Given the description of an element on the screen output the (x, y) to click on. 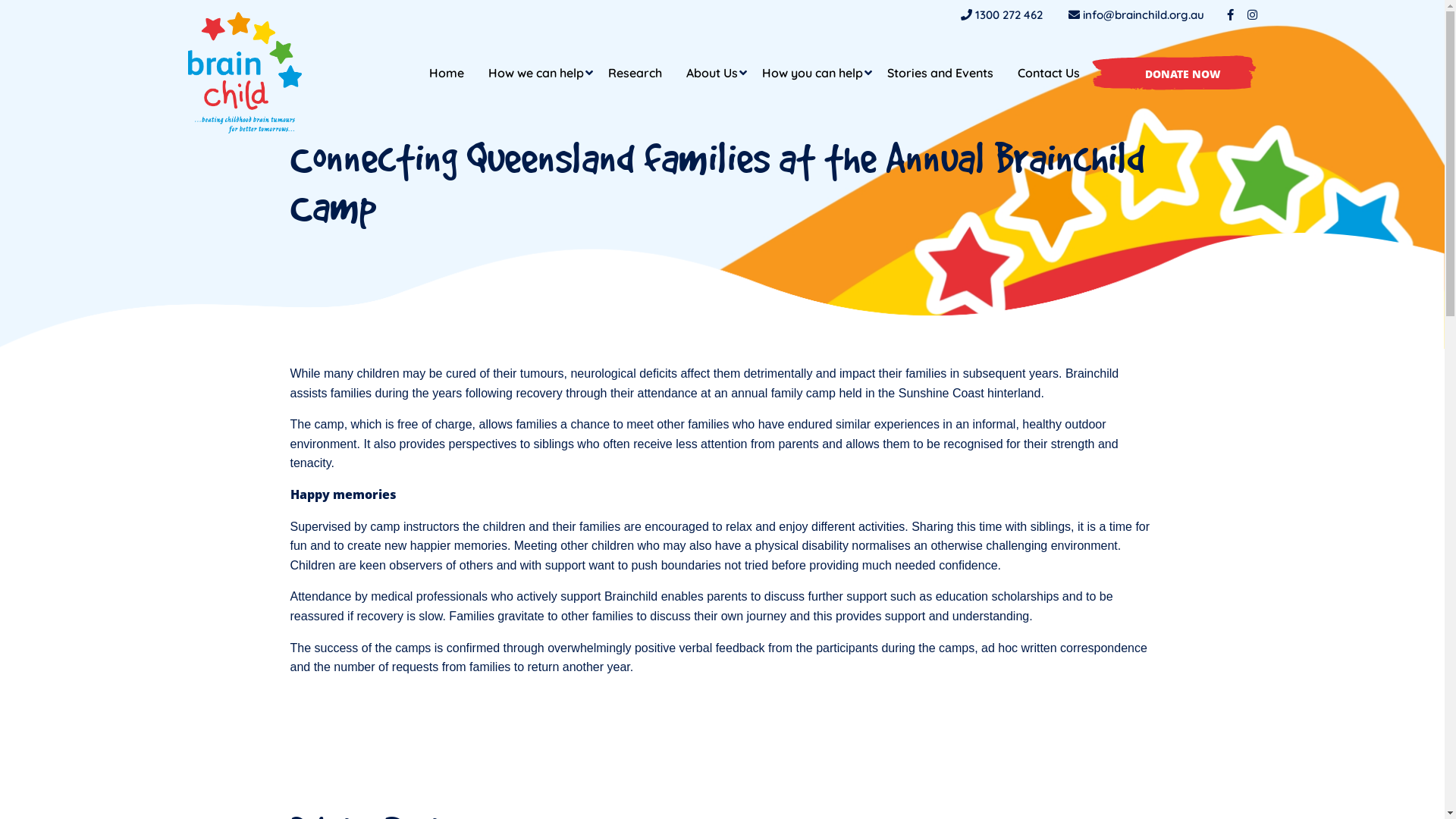
Submit Element type: text (82, 17)
How we can help Element type: text (536, 72)
DONATE NOW Element type: text (1173, 72)
Contact Us Element type: text (1048, 72)
Home Element type: text (446, 72)
Research Element type: text (635, 72)
About Us Element type: text (711, 72)
How you can help Element type: text (811, 72)
Stories and Events Element type: text (940, 72)
